Given the description of an element on the screen output the (x, y) to click on. 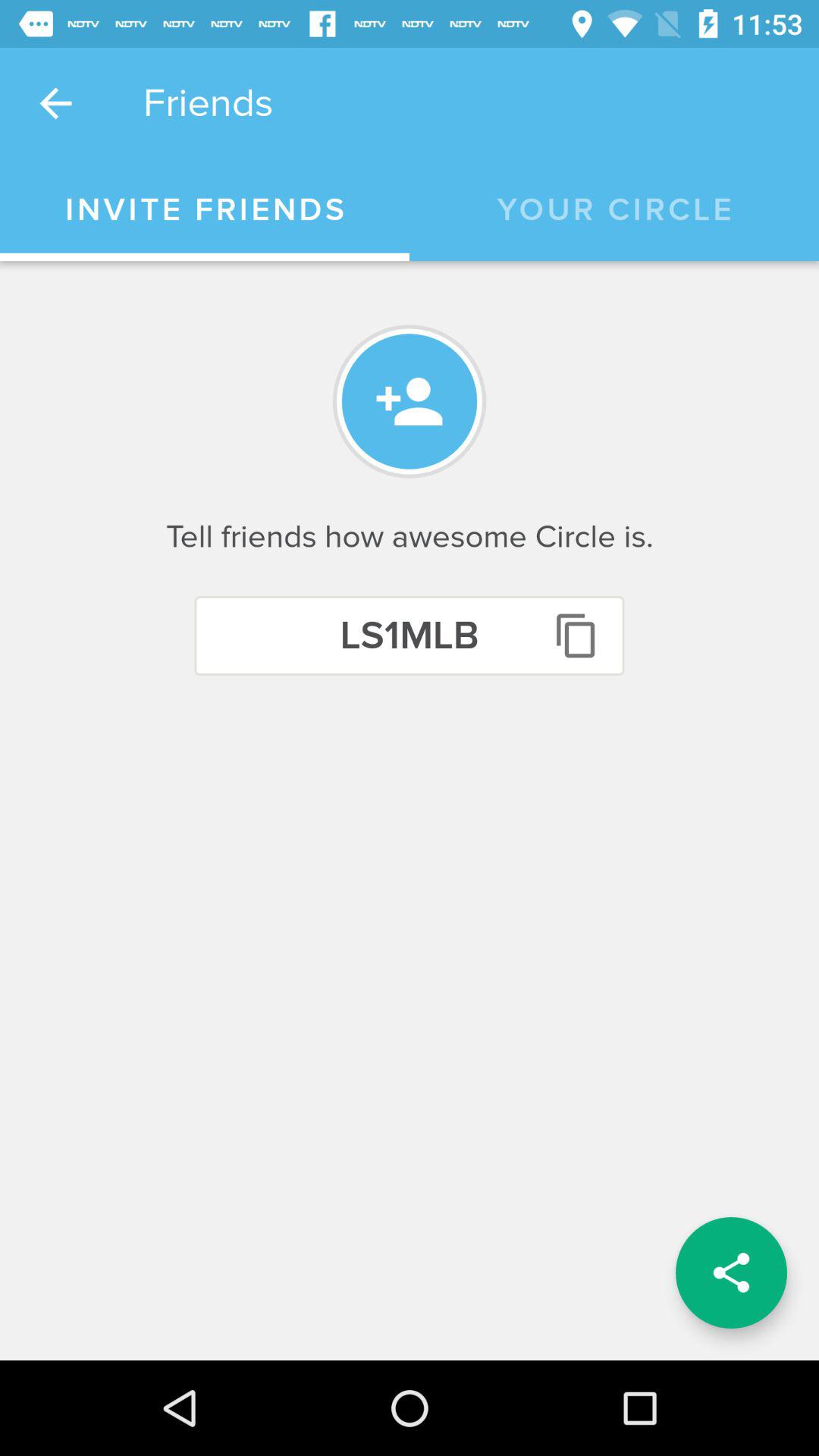
click icon to the right of invite friends item (614, 210)
